Given the description of an element on the screen output the (x, y) to click on. 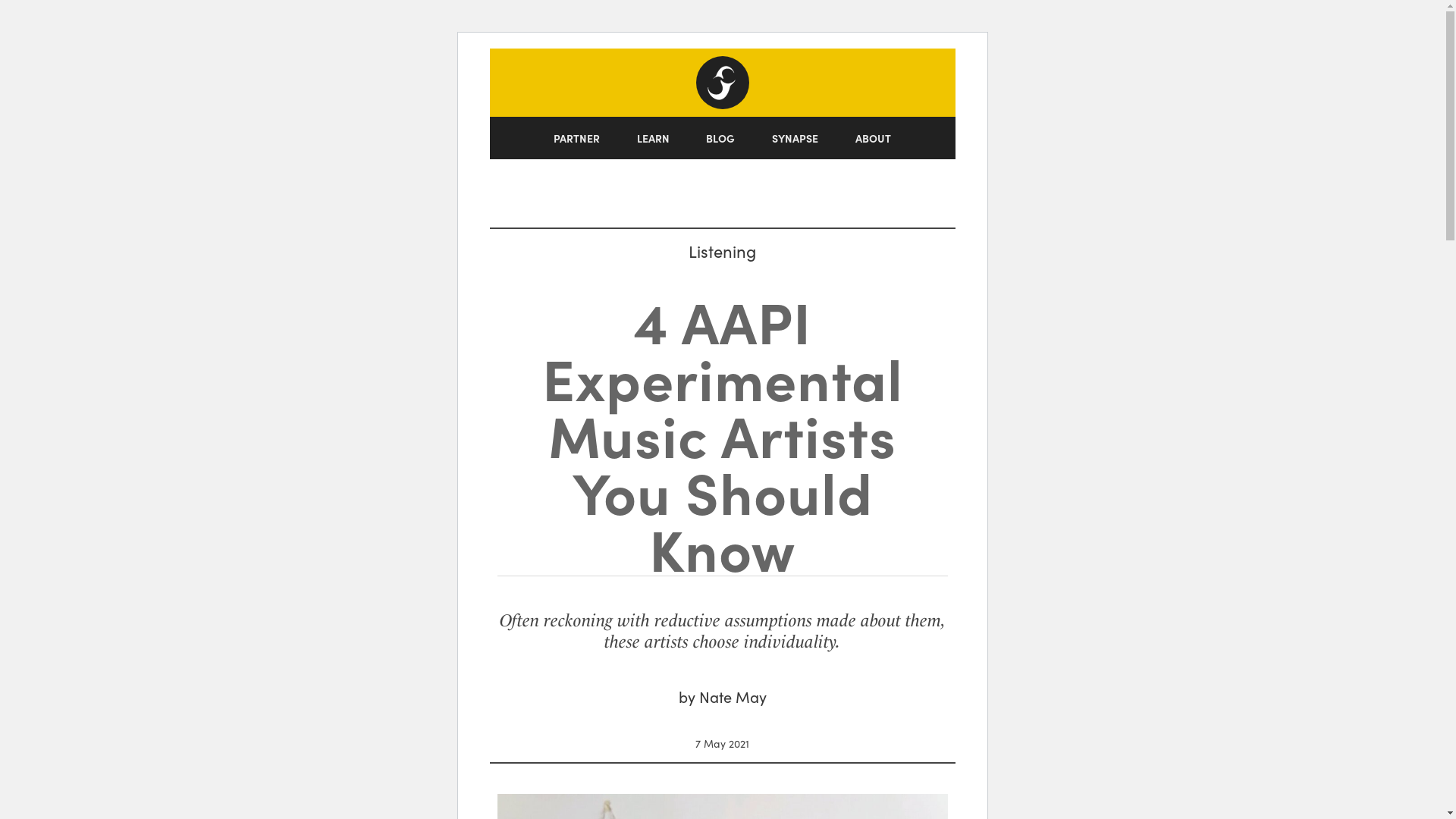
Skip to content Element type: text (500, 79)
SYNAPSE Element type: text (795, 137)
ABOUT Element type: text (873, 137)
BLOG Element type: text (720, 137)
Listening Element type: text (722, 250)
PARTNER Element type: text (576, 137)
LEARN Element type: text (652, 137)
by Nate May Element type: text (721, 696)
